Given the description of an element on the screen output the (x, y) to click on. 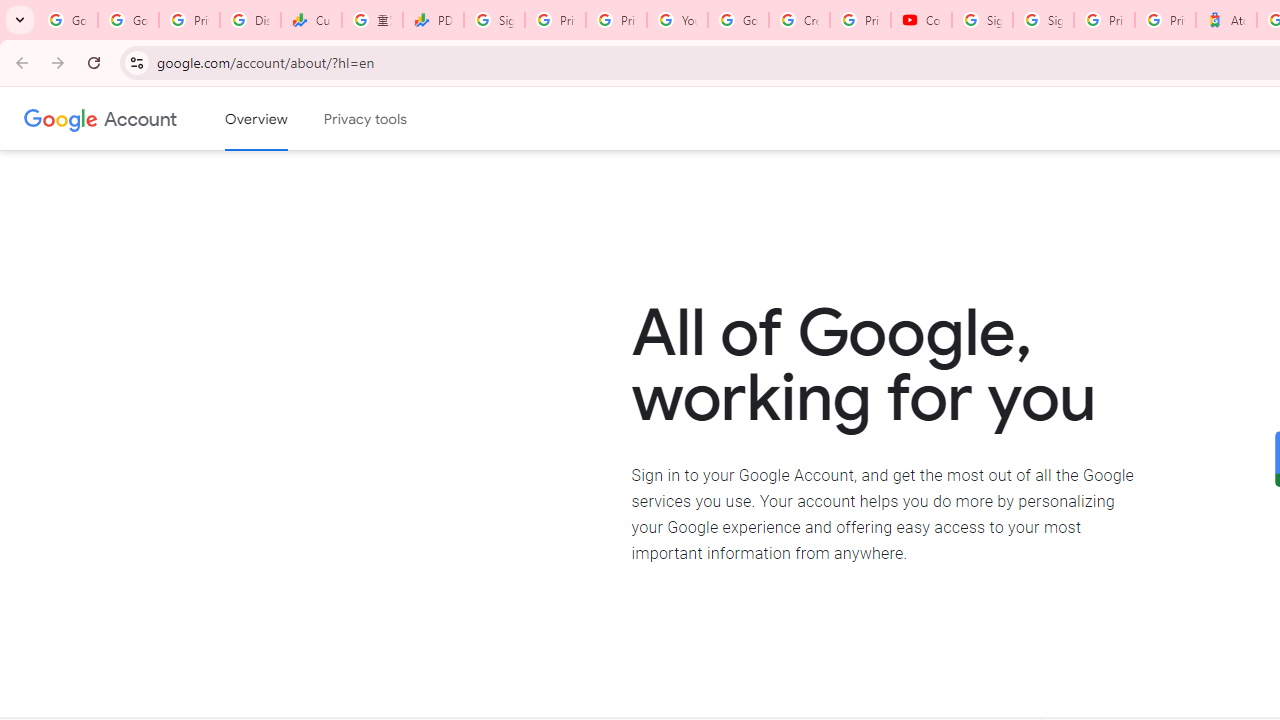
Currencies - Google Finance (310, 20)
Google Account overview (256, 119)
Sign in - Google Accounts (1042, 20)
YouTube (676, 20)
Google Account (140, 118)
Privacy Checkup (616, 20)
